Given the description of an element on the screen output the (x, y) to click on. 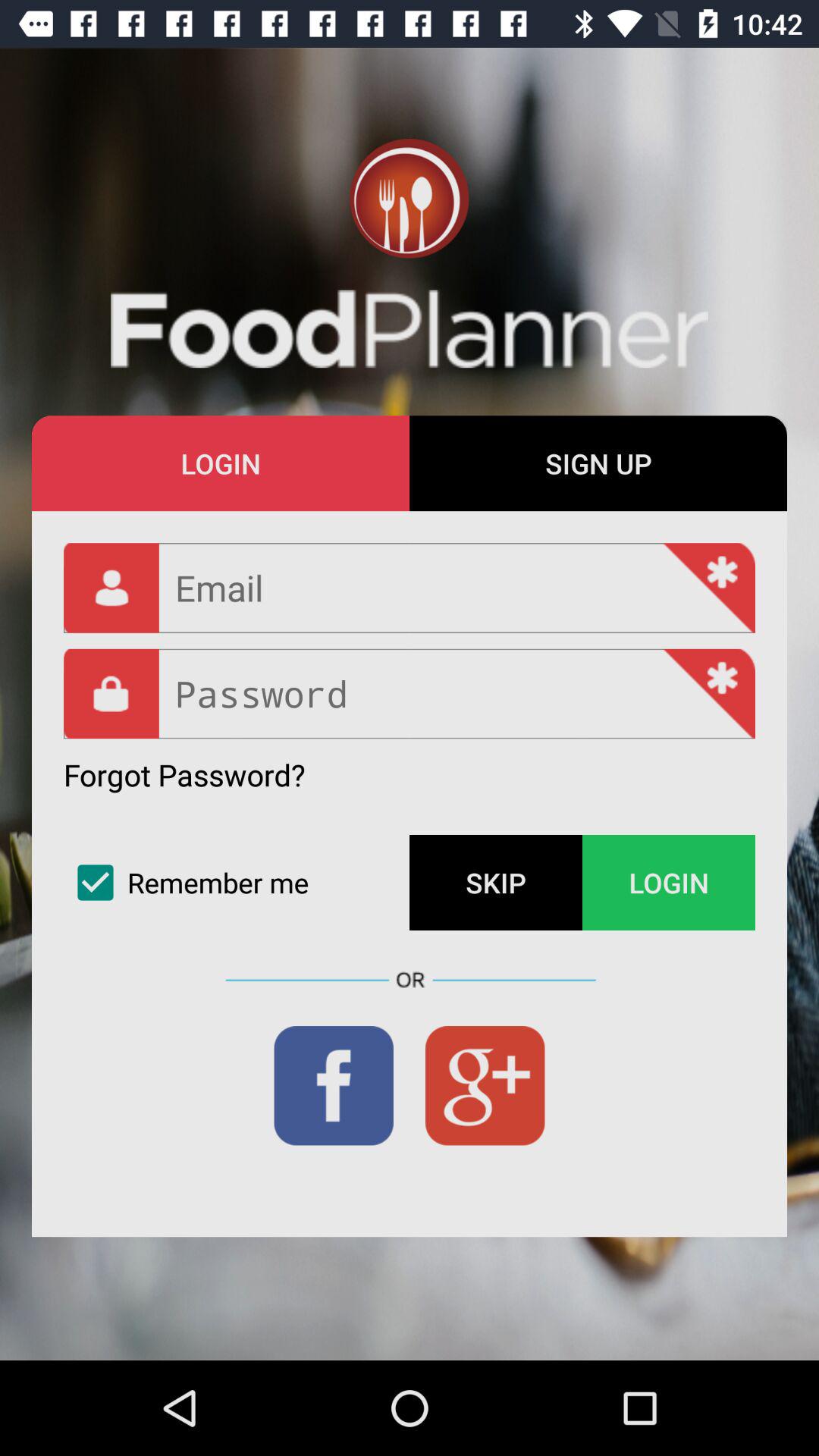
select icon next to the remember me (495, 882)
